Given the description of an element on the screen output the (x, y) to click on. 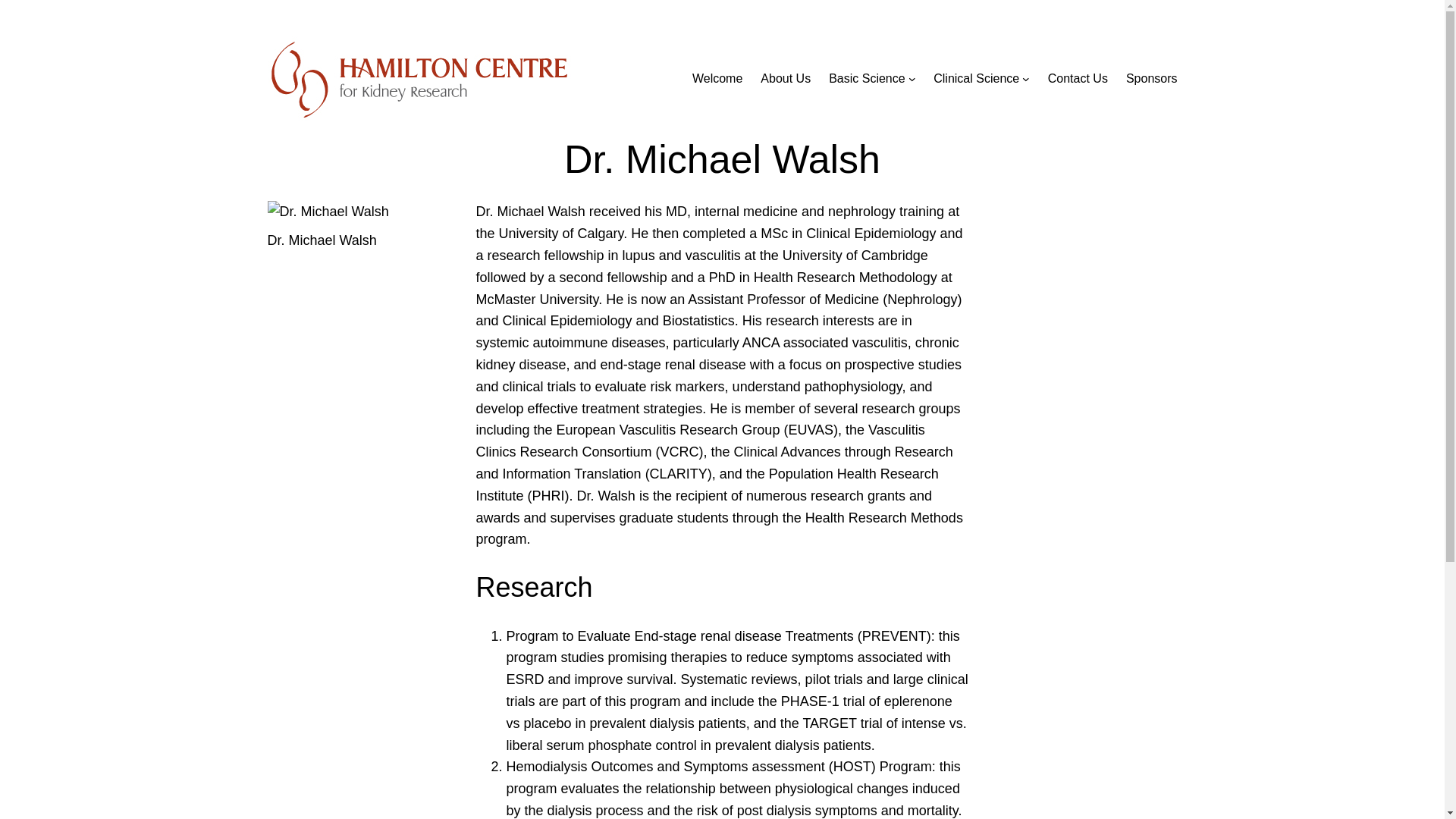
Contact Us (1078, 78)
About Us (785, 78)
Clinical Science (976, 78)
Basic Science (866, 78)
Sponsors (1151, 78)
Welcome (717, 78)
